Given the description of an element on the screen output the (x, y) to click on. 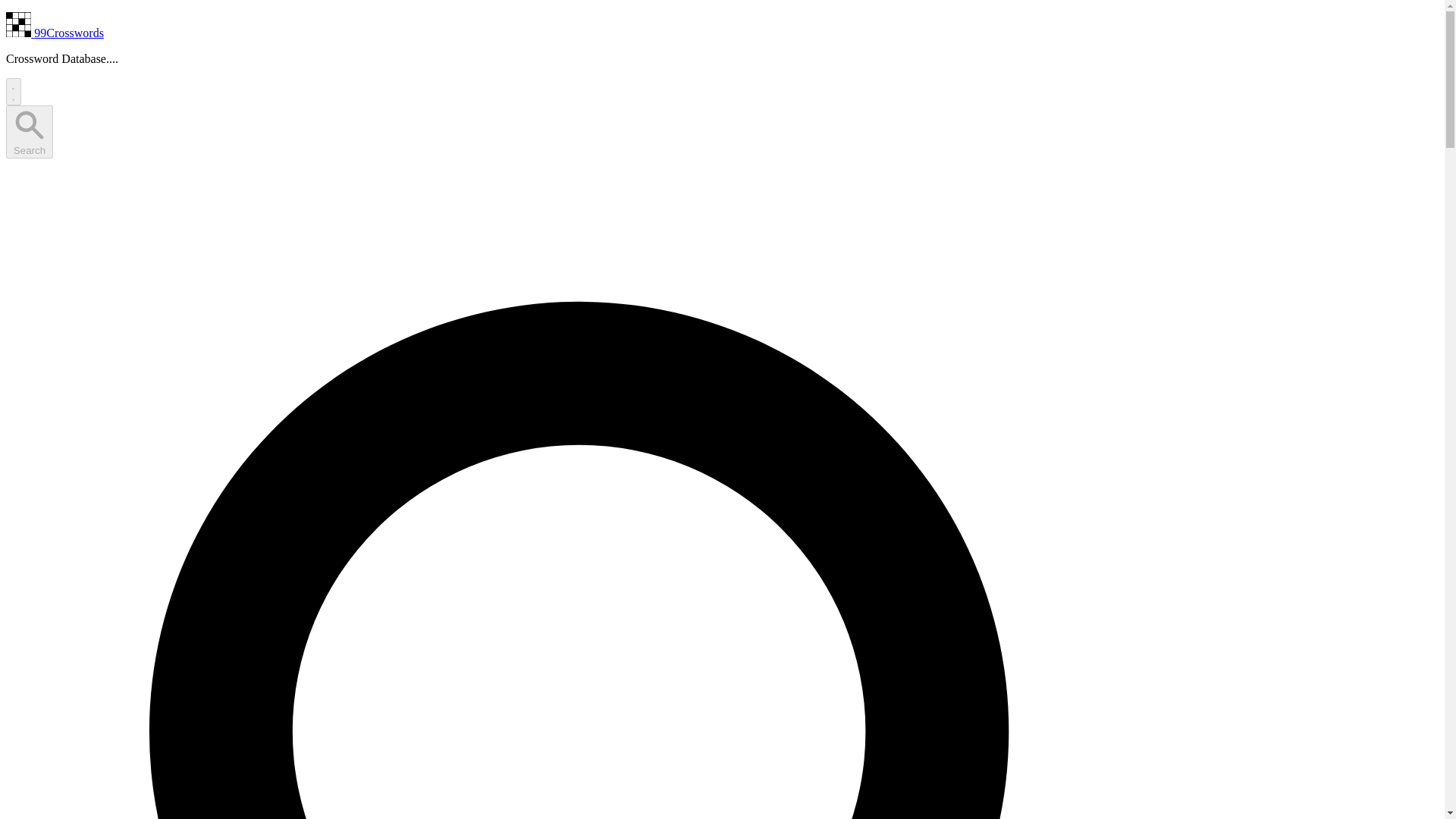
Search (28, 131)
99Crosswords (54, 32)
